Given the description of an element on the screen output the (x, y) to click on. 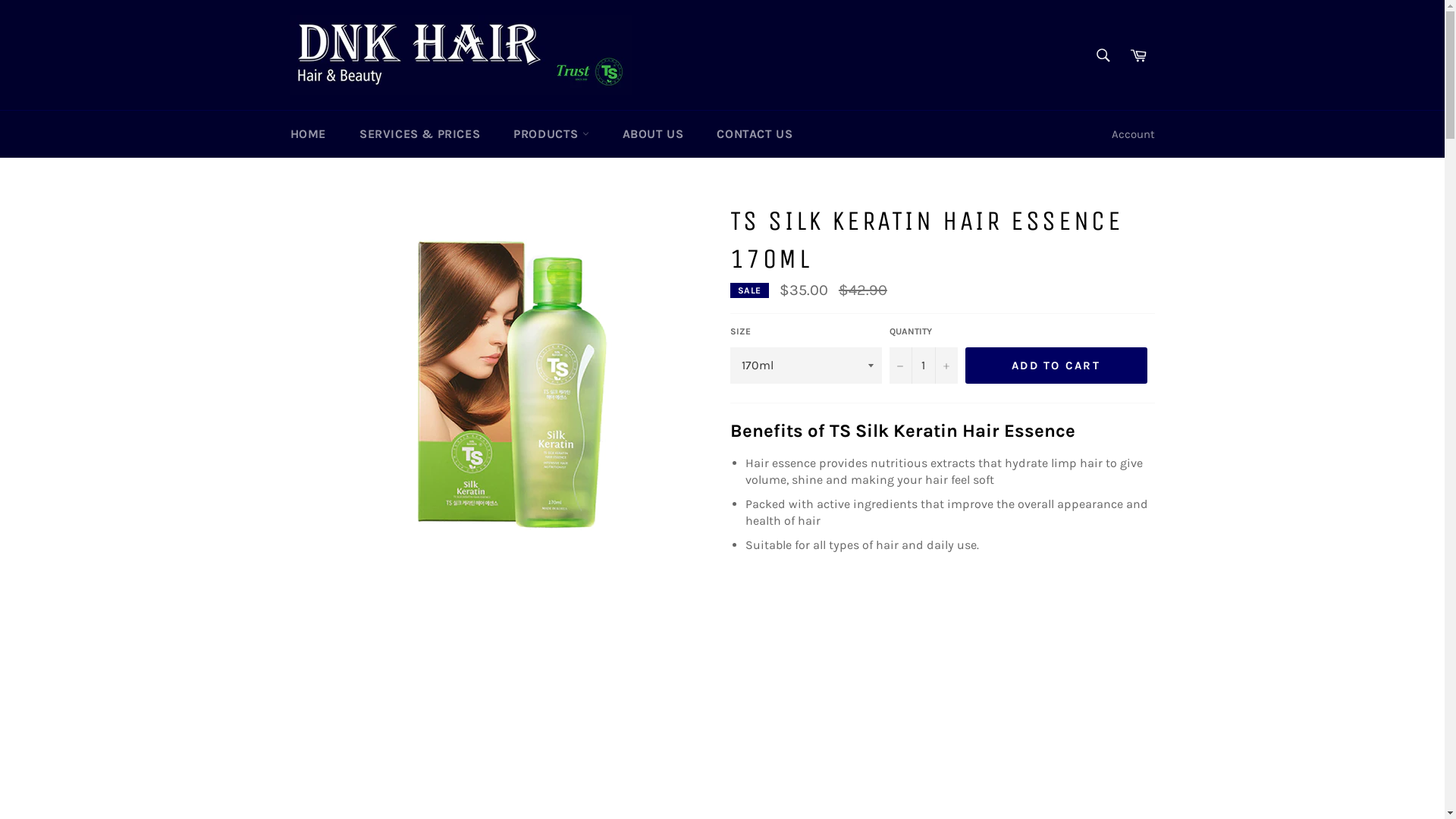
+ Element type: text (945, 365)
HOME Element type: text (307, 133)
SERVICES & PRICES Element type: text (419, 133)
PRODUCTS Element type: text (550, 133)
Account Element type: text (1133, 134)
Search Element type: text (1102, 55)
ABOUT US Element type: text (653, 133)
ADD TO CART Element type: text (1055, 365)
CONTACT US Element type: text (754, 133)
Cart Element type: text (1138, 55)
